Given the description of an element on the screen output the (x, y) to click on. 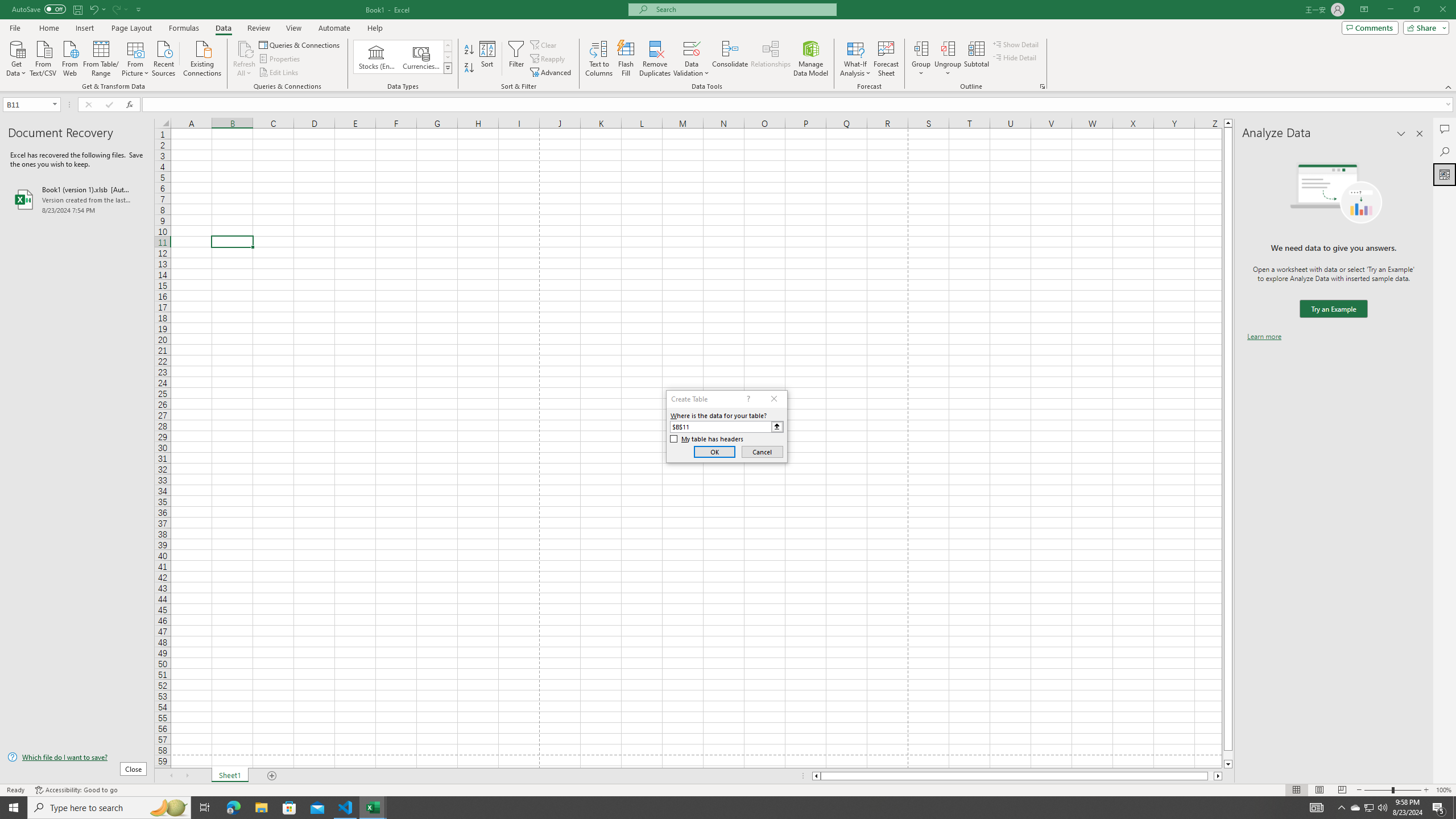
AutomationID: ConvertToLinkedEntity (403, 56)
Show Detail (1016, 44)
Consolidate... (729, 58)
From Picture (135, 57)
Queries & Connections (300, 44)
Group and Outline Settings (1042, 85)
Reapply (548, 58)
